Given the description of an element on the screen output the (x, y) to click on. 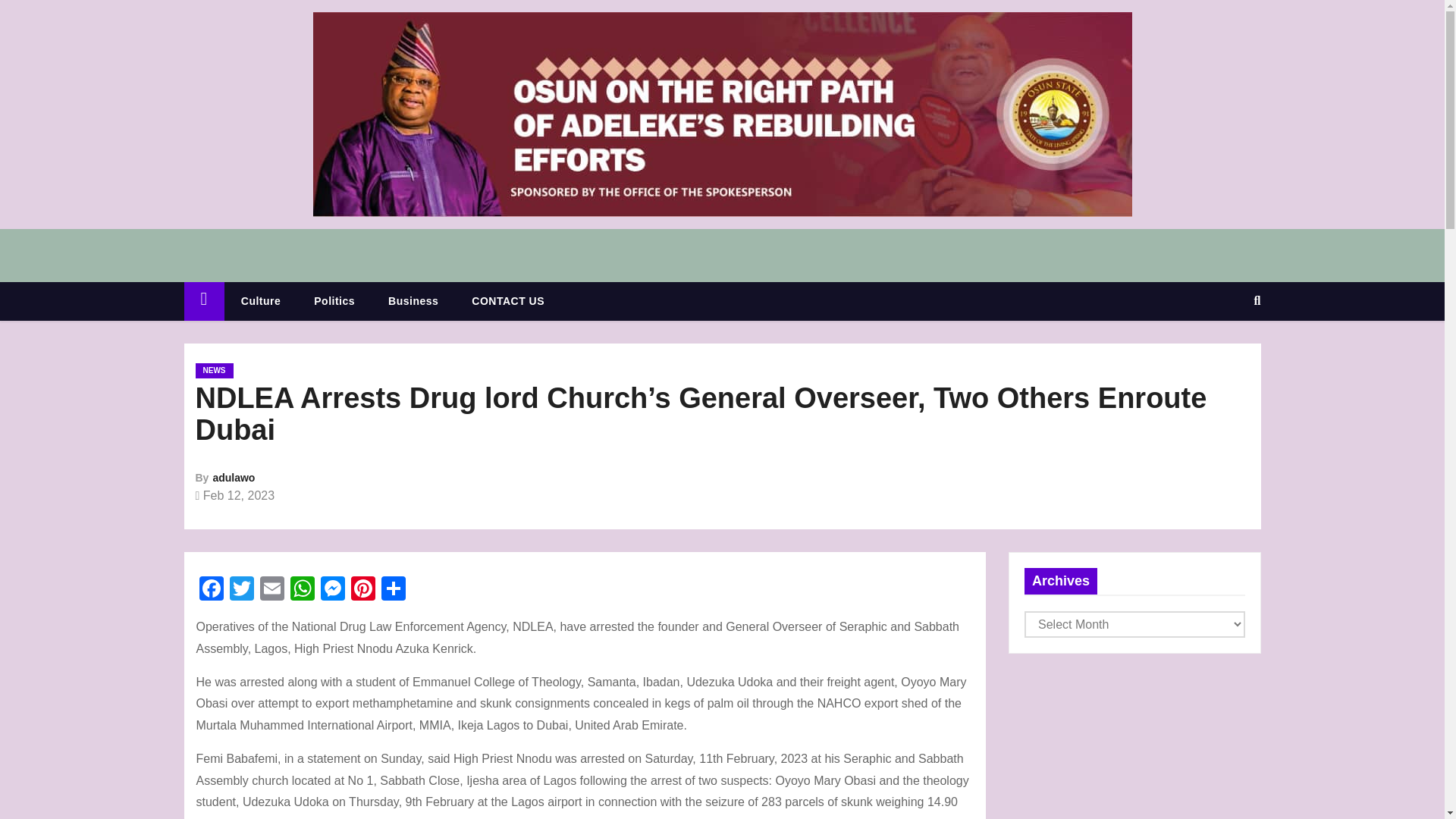
Messenger (332, 590)
Business (412, 301)
Home (203, 301)
Twitter (240, 590)
Politics (334, 301)
Facebook (210, 590)
NEWS (213, 370)
WhatsApp (301, 590)
CONTACT US (507, 301)
Business (412, 301)
